Given the description of an element on the screen output the (x, y) to click on. 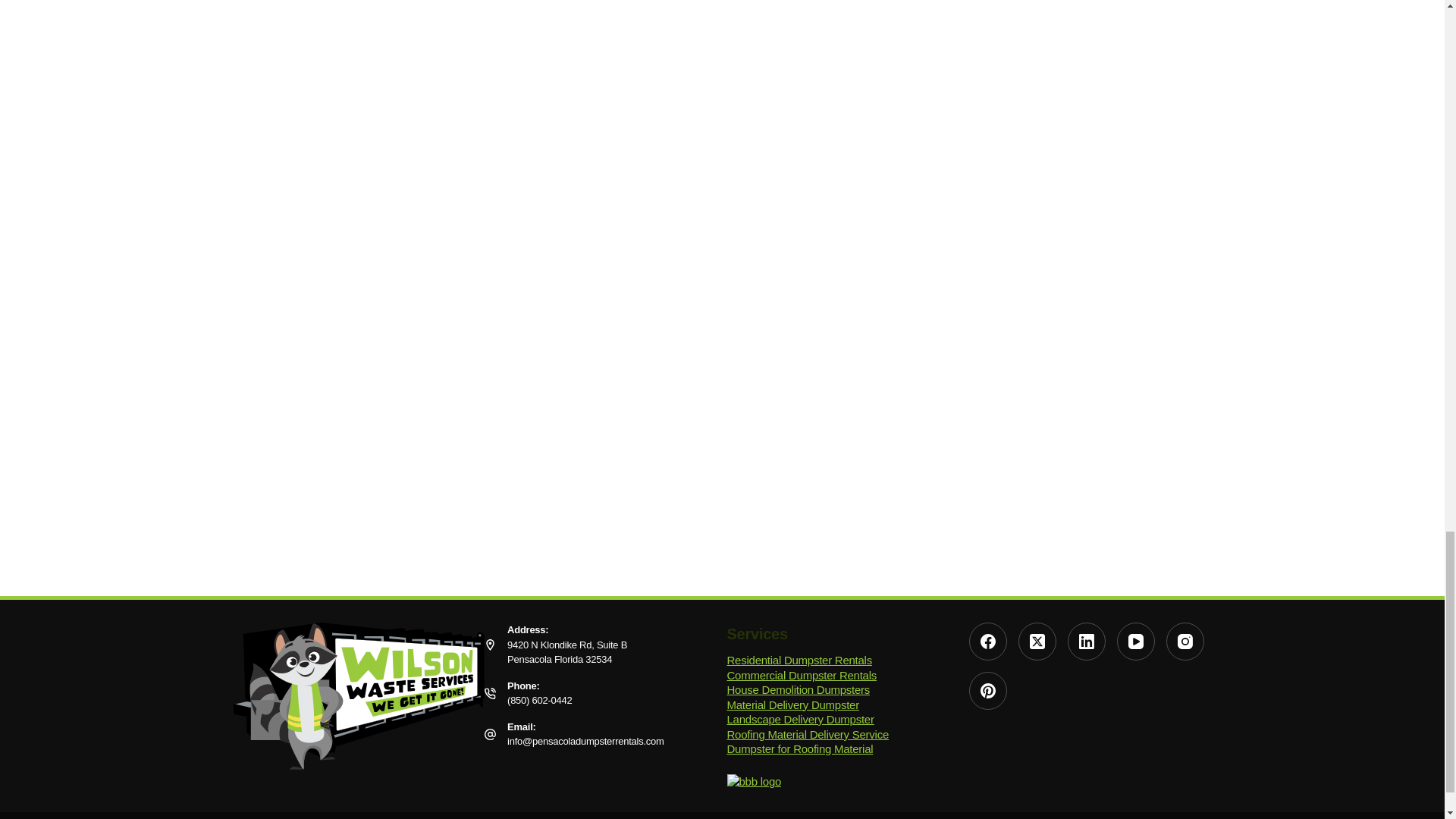
Residential Dumpster Rentals (799, 659)
Landscape Delivery Dumpster (800, 718)
House Demolition Dumpsters (798, 689)
Material Delivery Dumpster (792, 703)
Commercial Dumpster Rentals (801, 675)
